Given the description of an element on the screen output the (x, y) to click on. 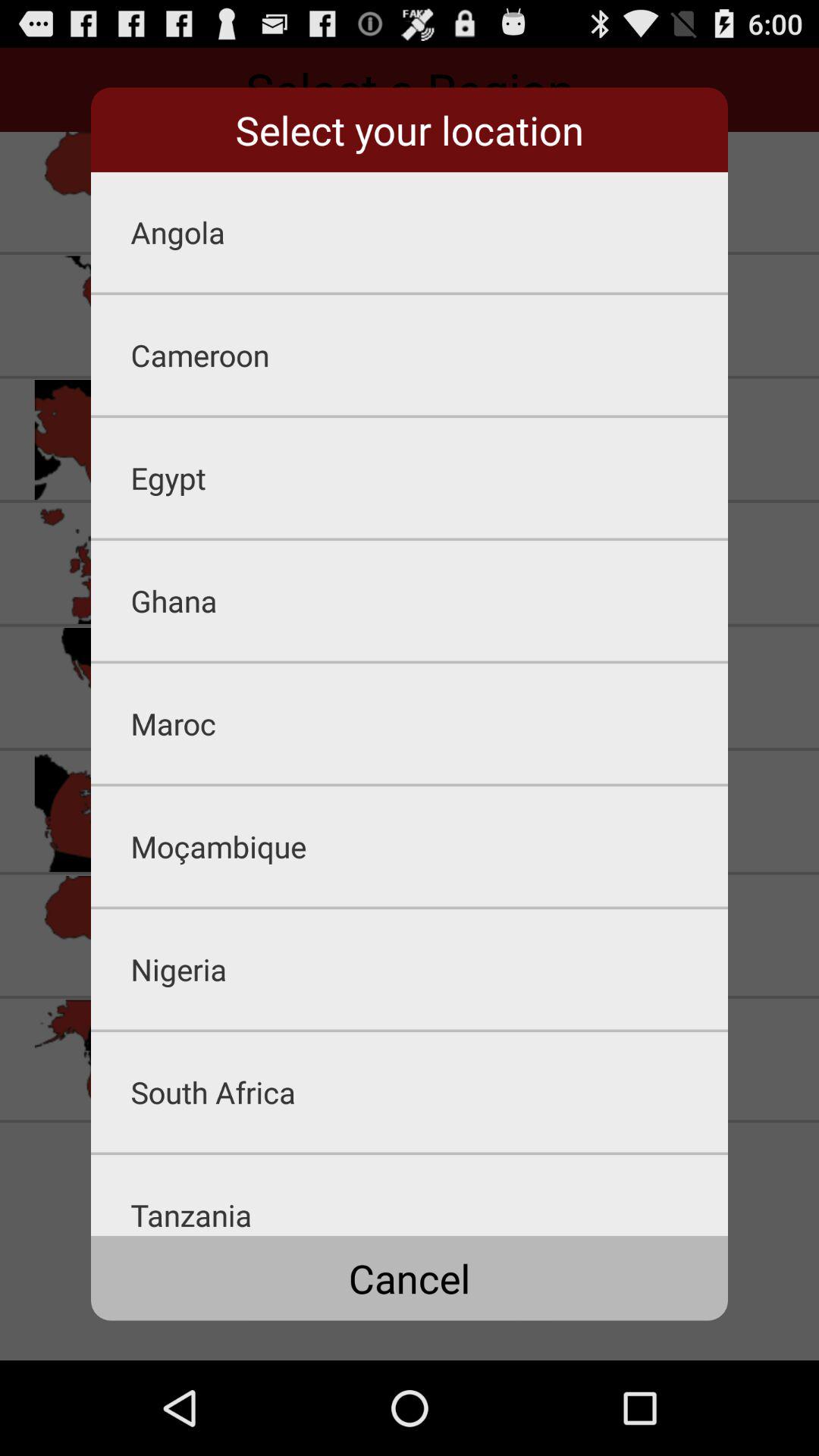
press angola icon (429, 232)
